Given the description of an element on the screen output the (x, y) to click on. 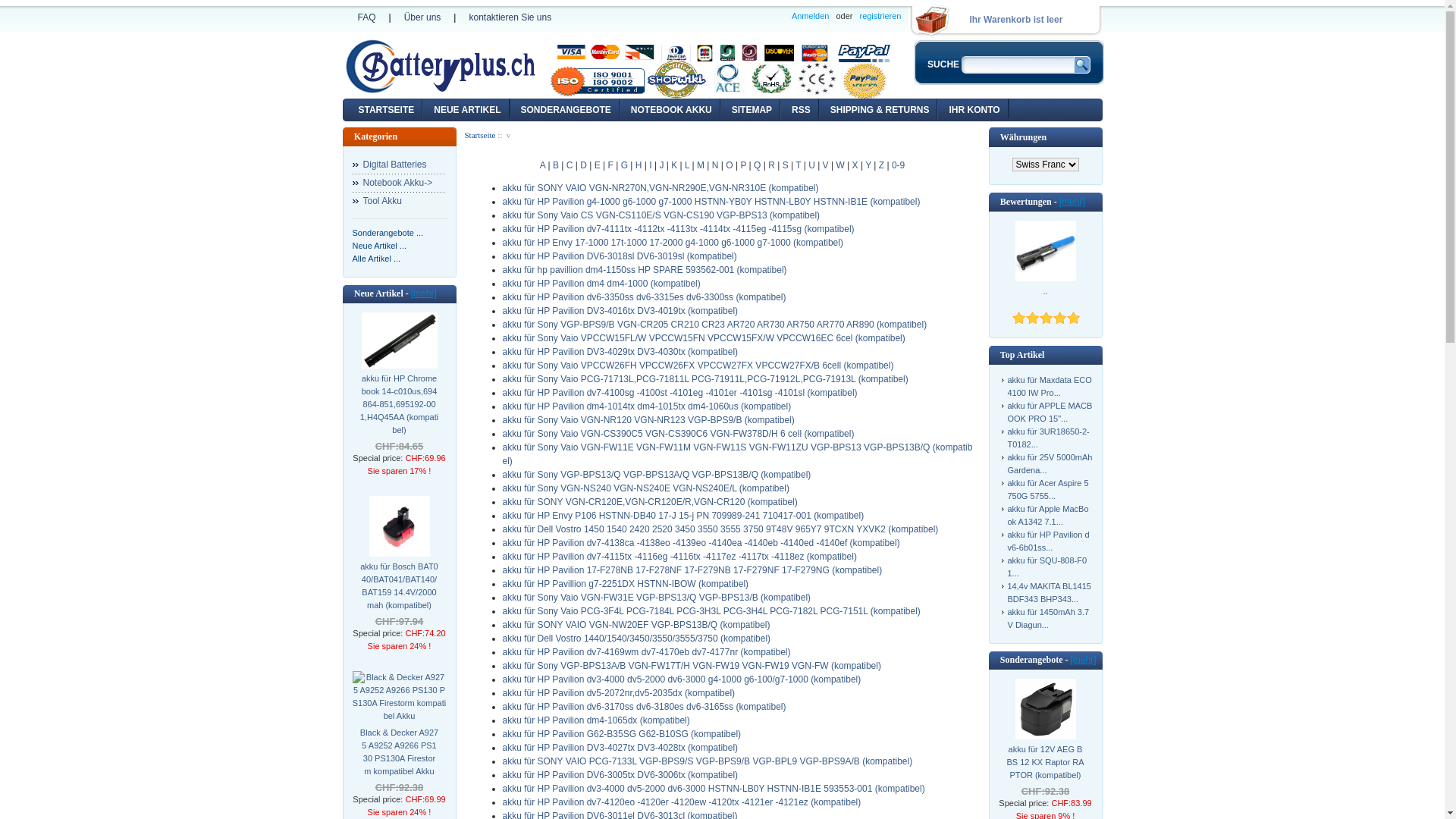
.. Element type: text (1058, 297)
B Element type: text (555, 165)
E Element type: text (597, 165)
Sonderangebote ... Element type: text (387, 232)
FAQ Element type: text (366, 17)
P Element type: text (743, 165)
H Element type: text (638, 165)
C Element type: text (569, 165)
R Element type: text (771, 165)
D Element type: text (583, 165)
 5 von 5 Sternen!  Element type: hover (1045, 318)
Z Element type: text (881, 165)
NEUE ARTIKEL Element type: text (466, 108)
Digital Batteries Element type: text (398, 164)
NOTEBOOK AKKU Element type: text (671, 108)
IHR KONTO Element type: text (973, 108)
SITEMAP Element type: text (751, 108)
SHIPPING & RETURNS Element type: text (879, 108)
N Element type: text (715, 165)
SONDERANGEBOTE Element type: text (565, 108)
A Element type: text (542, 165)
X Element type: text (855, 165)
T Element type: text (797, 165)
J Element type: text (660, 165)
registrieren Element type: text (879, 16)
 www.battery-plus.de  Element type: hover (440, 65)
14,4v MAKITA BL1415 BDF343 BHP343... Element type: text (1048, 592)
F Element type: text (609, 165)
O Element type: text (728, 165)
S Element type: text (785, 165)
RSS Element type: text (800, 108)
U Element type: text (811, 165)
kontaktieren Sie uns Element type: text (509, 17)
Notebook Akku-> Element type: text (398, 182)
L Element type: text (686, 165)
[mehr] Element type: text (423, 293)
STARTSEITE Element type: text (385, 108)
W Element type: text (839, 165)
Neue Artikel ... Element type: text (378, 245)
Anmelden Element type: text (810, 16)
Tool Akku Element type: text (398, 200)
0-9 Element type: text (897, 165)
Y Element type: text (868, 165)
V Element type: text (825, 165)
Startseite Element type: text (479, 134)
M Element type: text (700, 165)
G Element type: text (624, 165)
[mehr] Element type: text (1082, 659)
[mehr] Element type: text (1072, 201)
Q Element type: text (756, 165)
I Element type: text (650, 165)
Alle Artikel ... Element type: text (375, 258)
K Element type: text (674, 165)
